Given the description of an element on the screen output the (x, y) to click on. 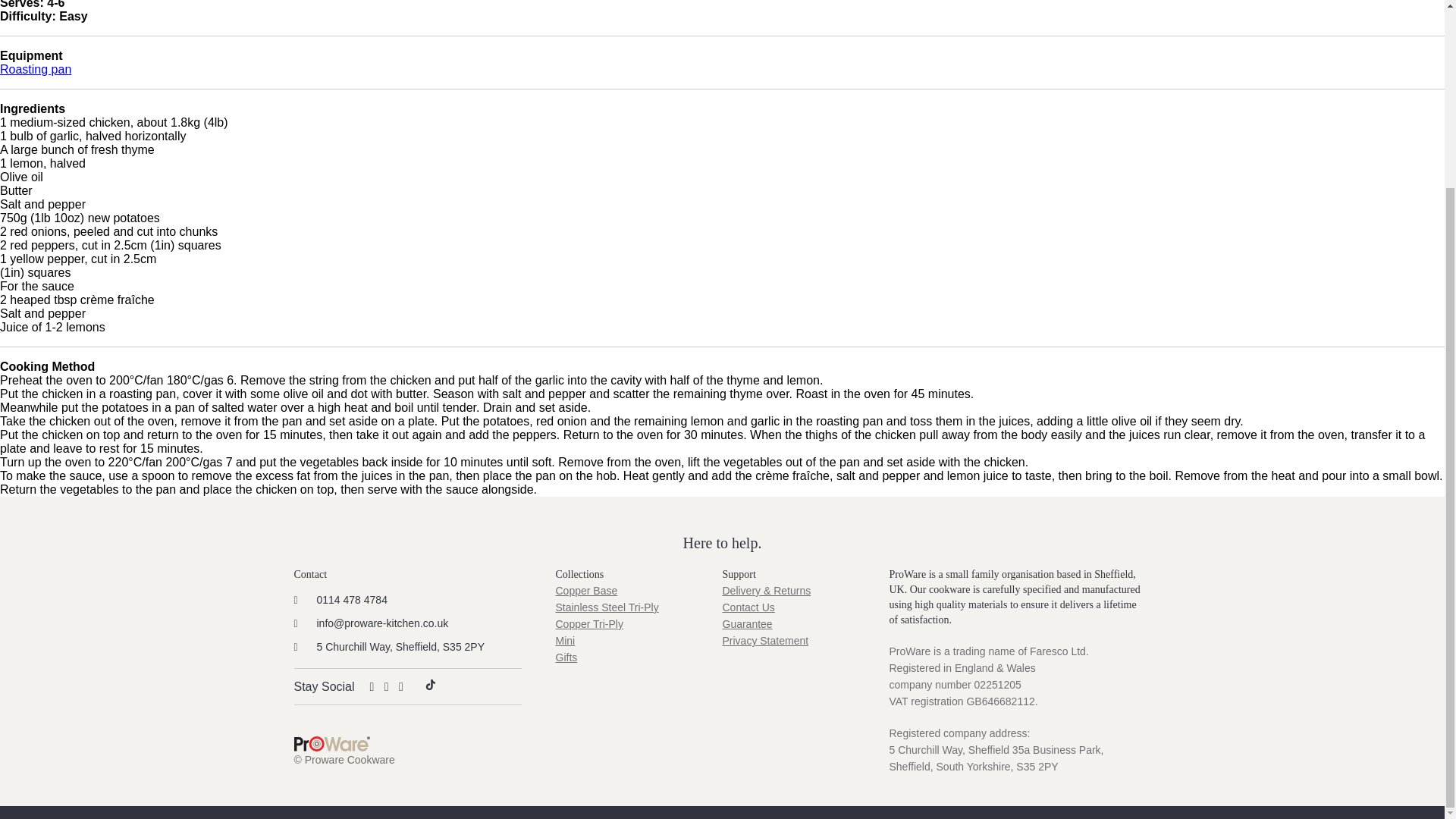
Roasting pan (35, 69)
